Given the description of an element on the screen output the (x, y) to click on. 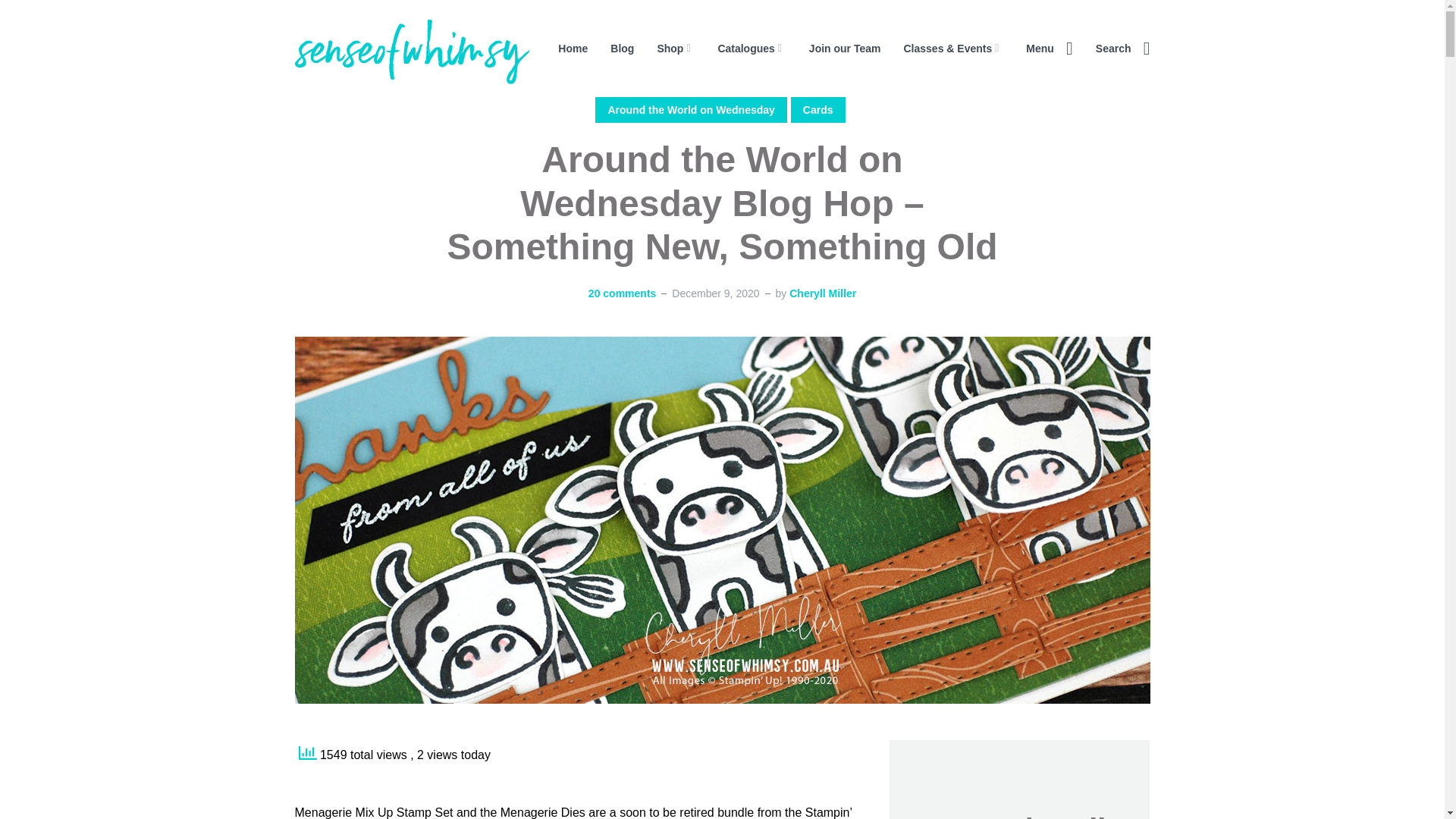
Menu (1049, 48)
20 comments (622, 293)
Join our Team (844, 48)
Catalogues (751, 48)
Search (1123, 48)
Shop (675, 48)
Cards (817, 109)
Around the World on Wednesday (690, 109)
